Given the description of an element on the screen output the (x, y) to click on. 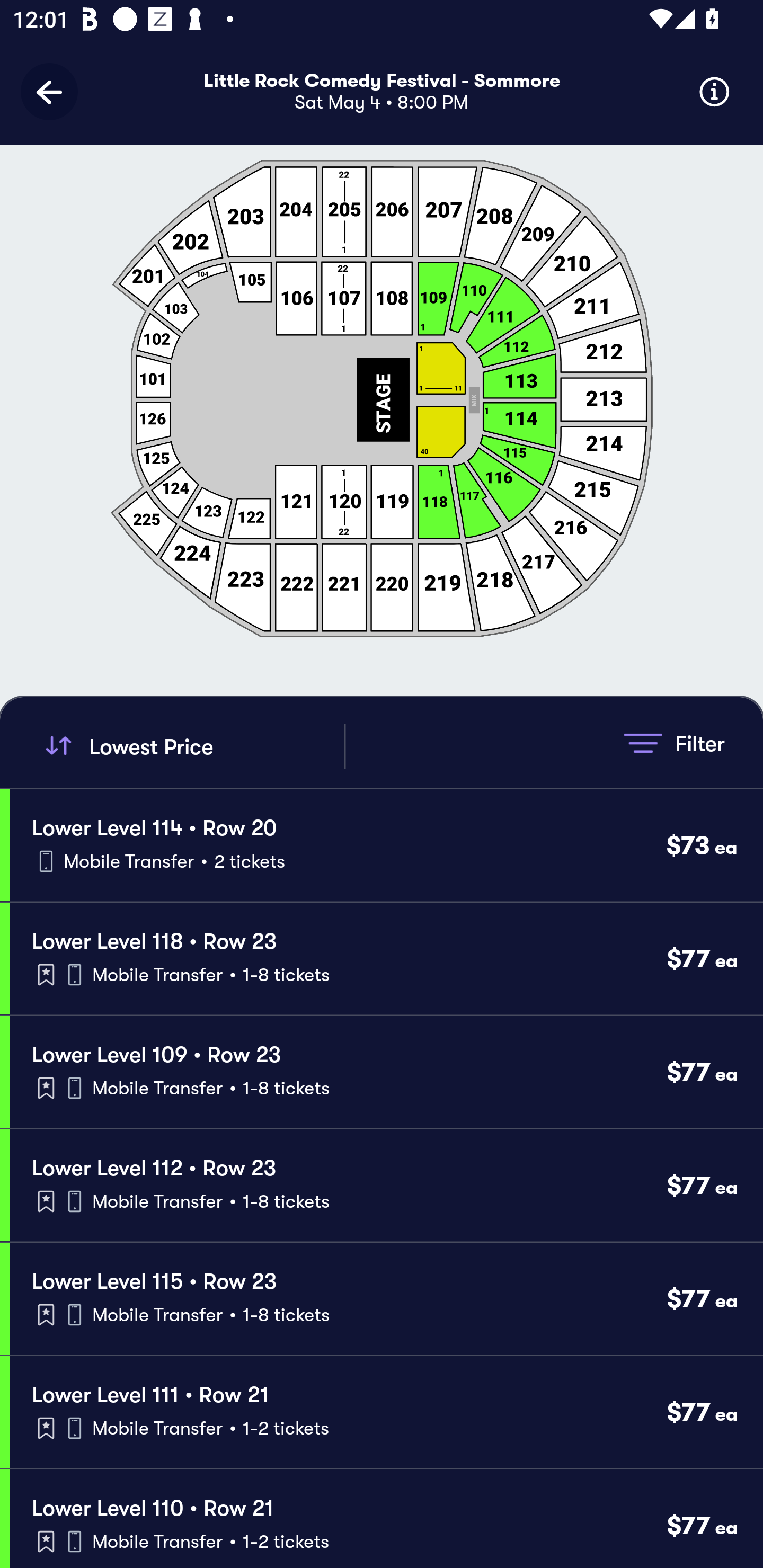
Lowest Price (191, 746)
Filter (674, 743)
